Given the description of an element on the screen output the (x, y) to click on. 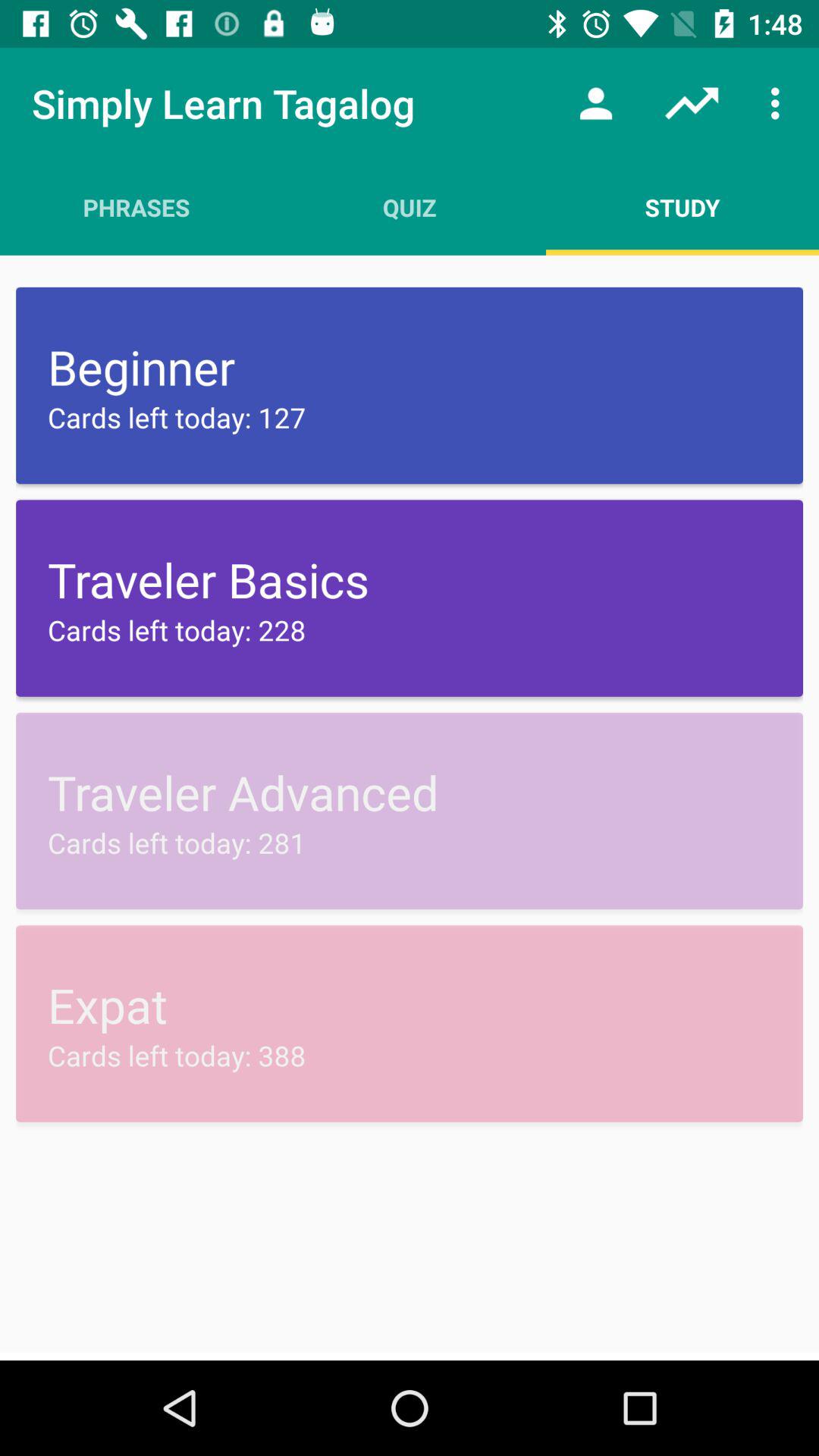
launch item next to quiz app (682, 207)
